Given the description of an element on the screen output the (x, y) to click on. 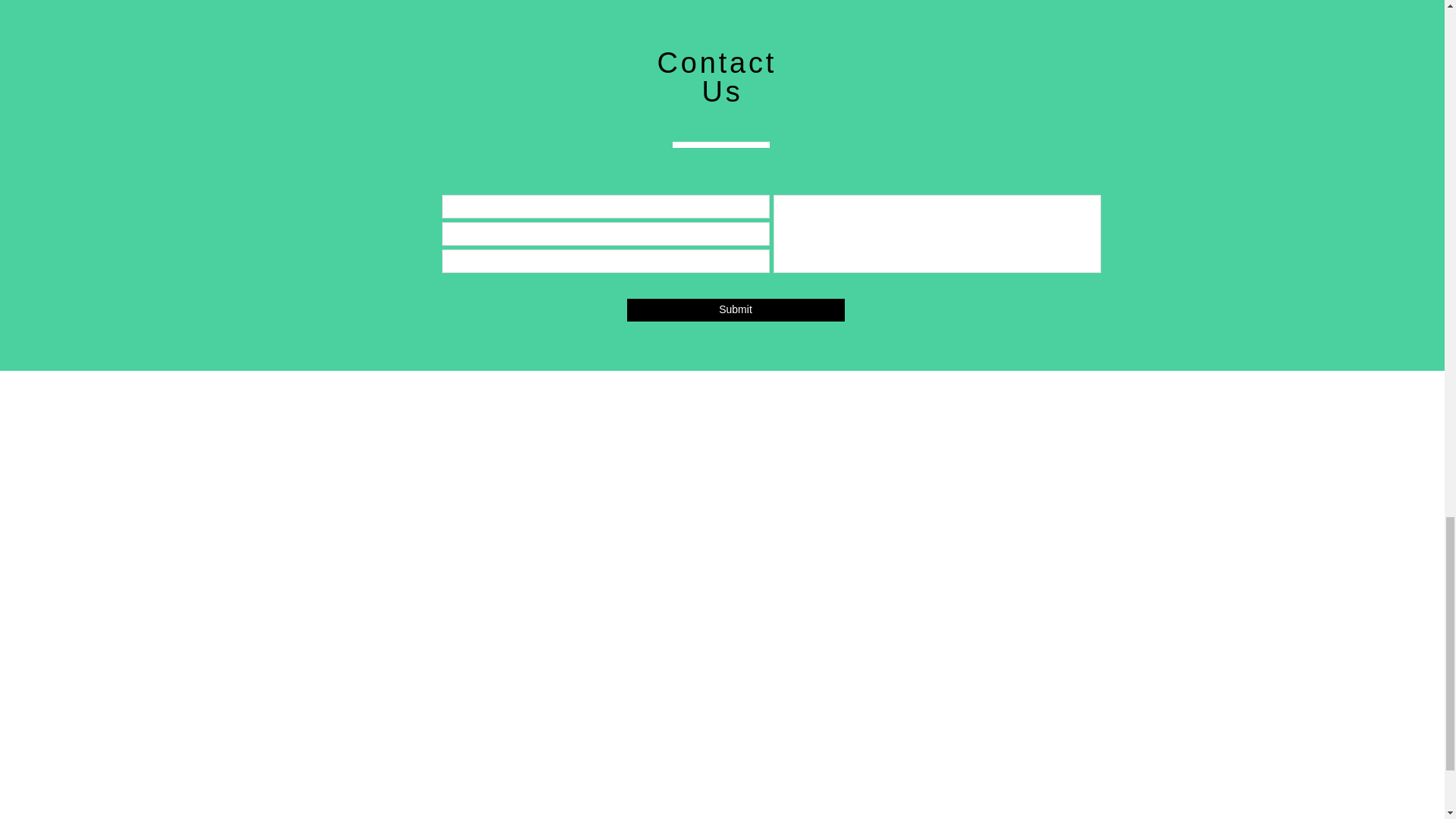
Submit (735, 309)
